Given the description of an element on the screen output the (x, y) to click on. 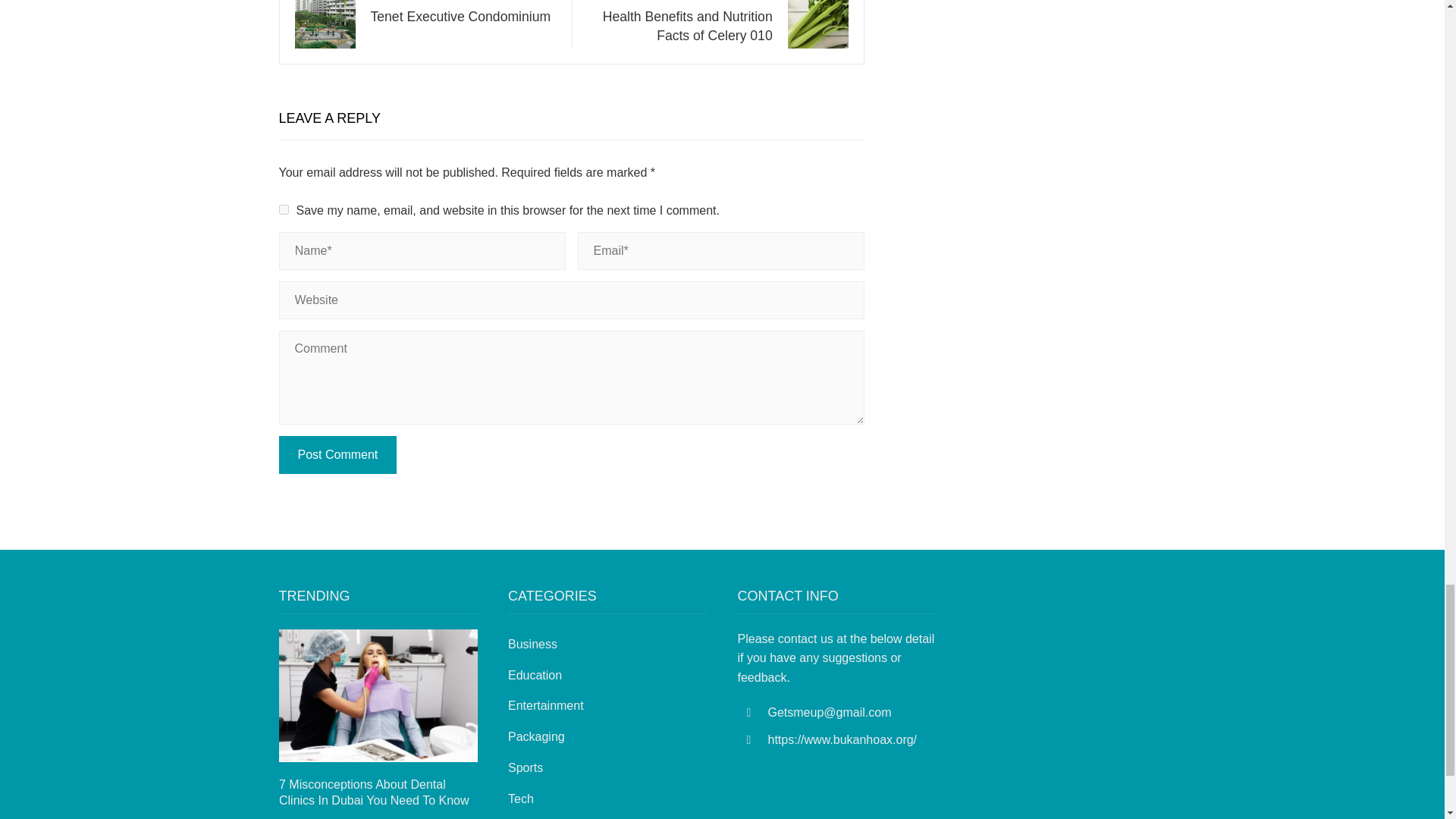
yes (462, 12)
Post Comment (283, 209)
